Given the description of an element on the screen output the (x, y) to click on. 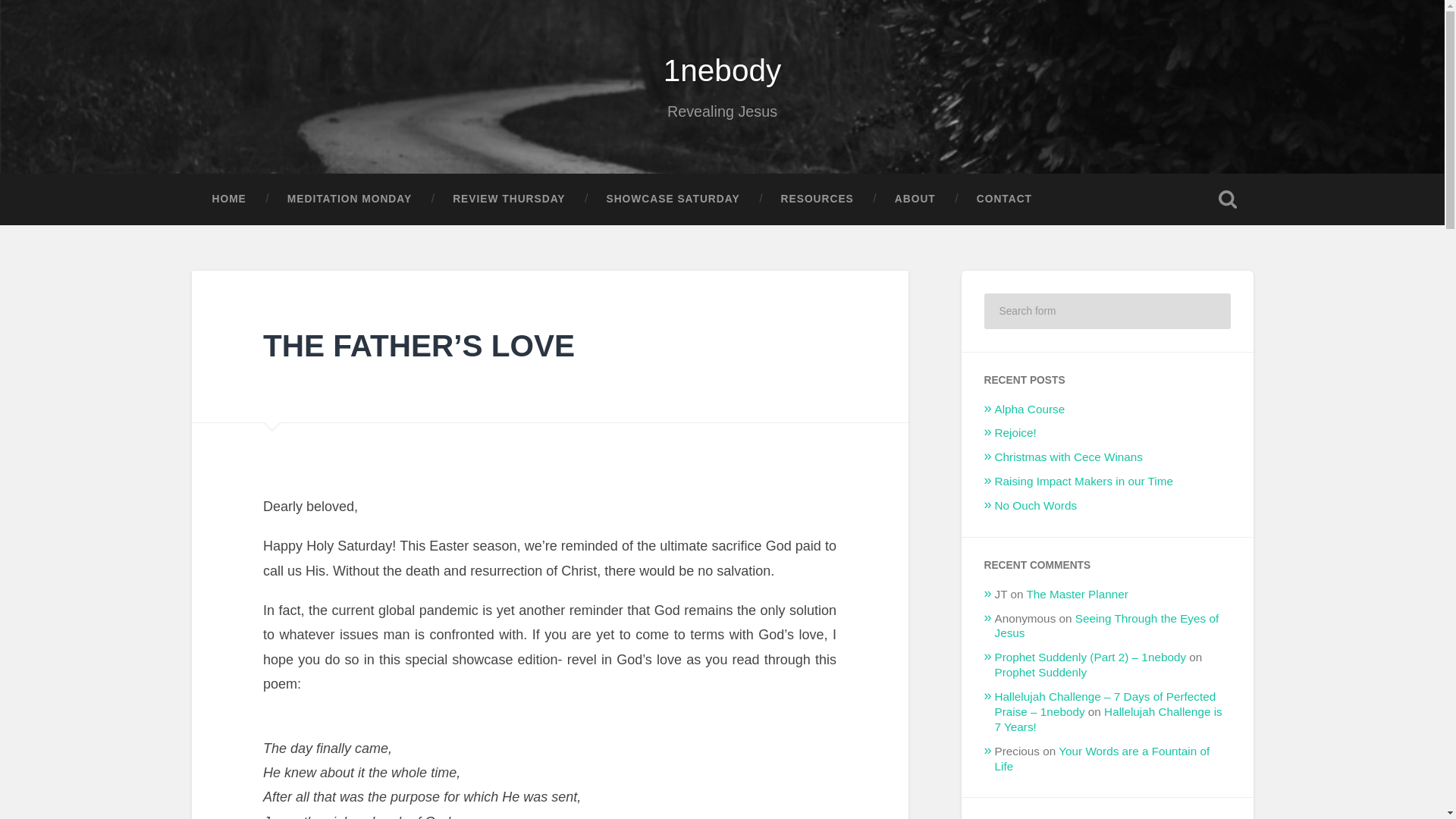
ABOUT (915, 199)
MEDITATION MONDAY (349, 199)
RESOURCES (817, 199)
CONTACT (1004, 199)
No Ouch Words (1035, 504)
The Master Planner (1076, 594)
Raising Impact Makers in our Time (1083, 481)
Search (1209, 310)
1nebody (721, 70)
HOME (228, 199)
REVIEW THURSDAY (508, 199)
Search (1209, 310)
Christmas with Cece Winans (1068, 456)
Search (1209, 310)
Alpha Course (1029, 408)
